Given the description of an element on the screen output the (x, y) to click on. 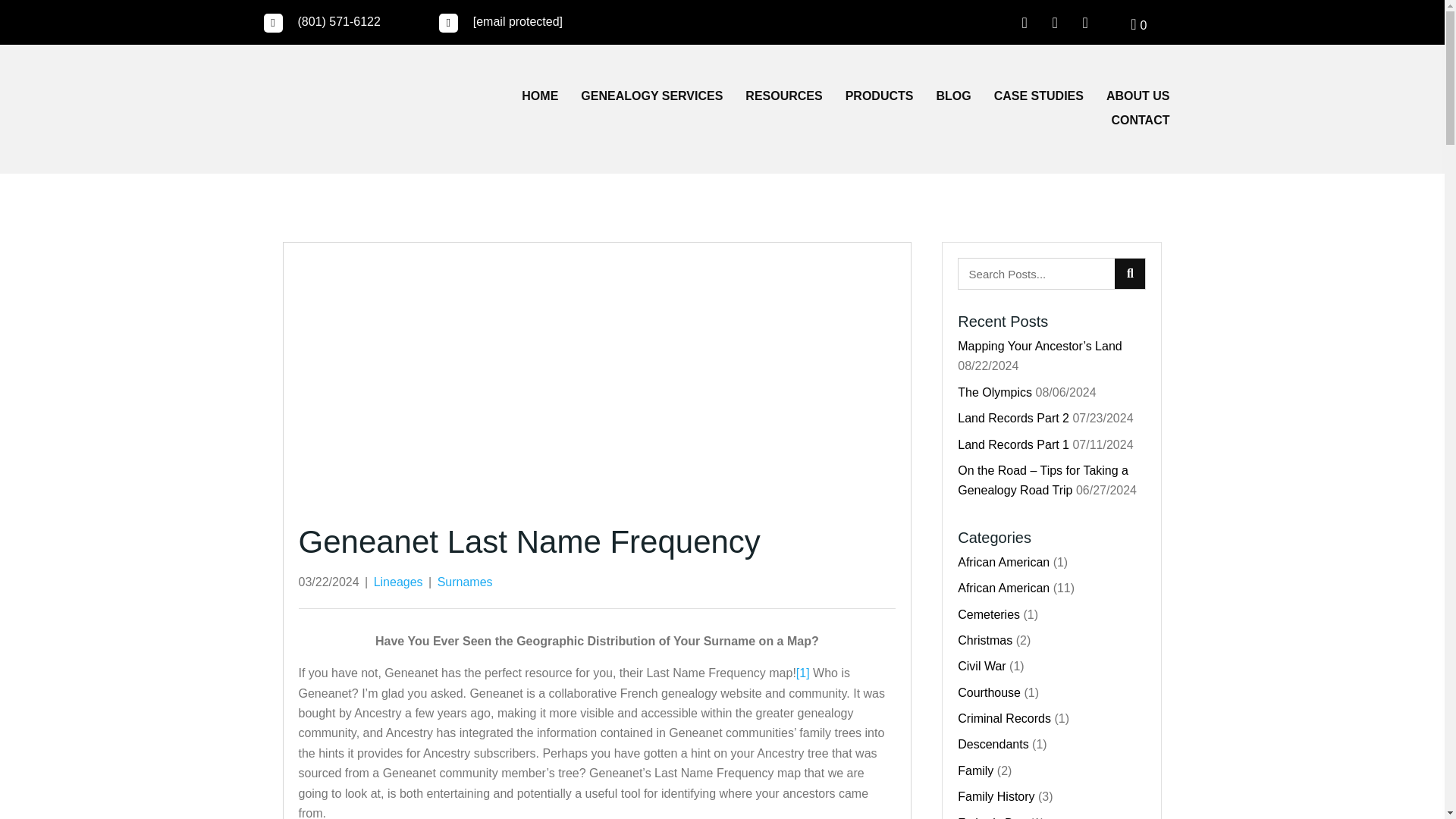
Youtube (1085, 22)
The Olympics (995, 391)
BLOG (953, 96)
CASE STUDIES (1038, 96)
African American (1003, 587)
African American (1003, 562)
Surnames (465, 581)
PRODUCTS (879, 96)
ABOUT US (1138, 96)
Search (1036, 273)
